Given the description of an element on the screen output the (x, y) to click on. 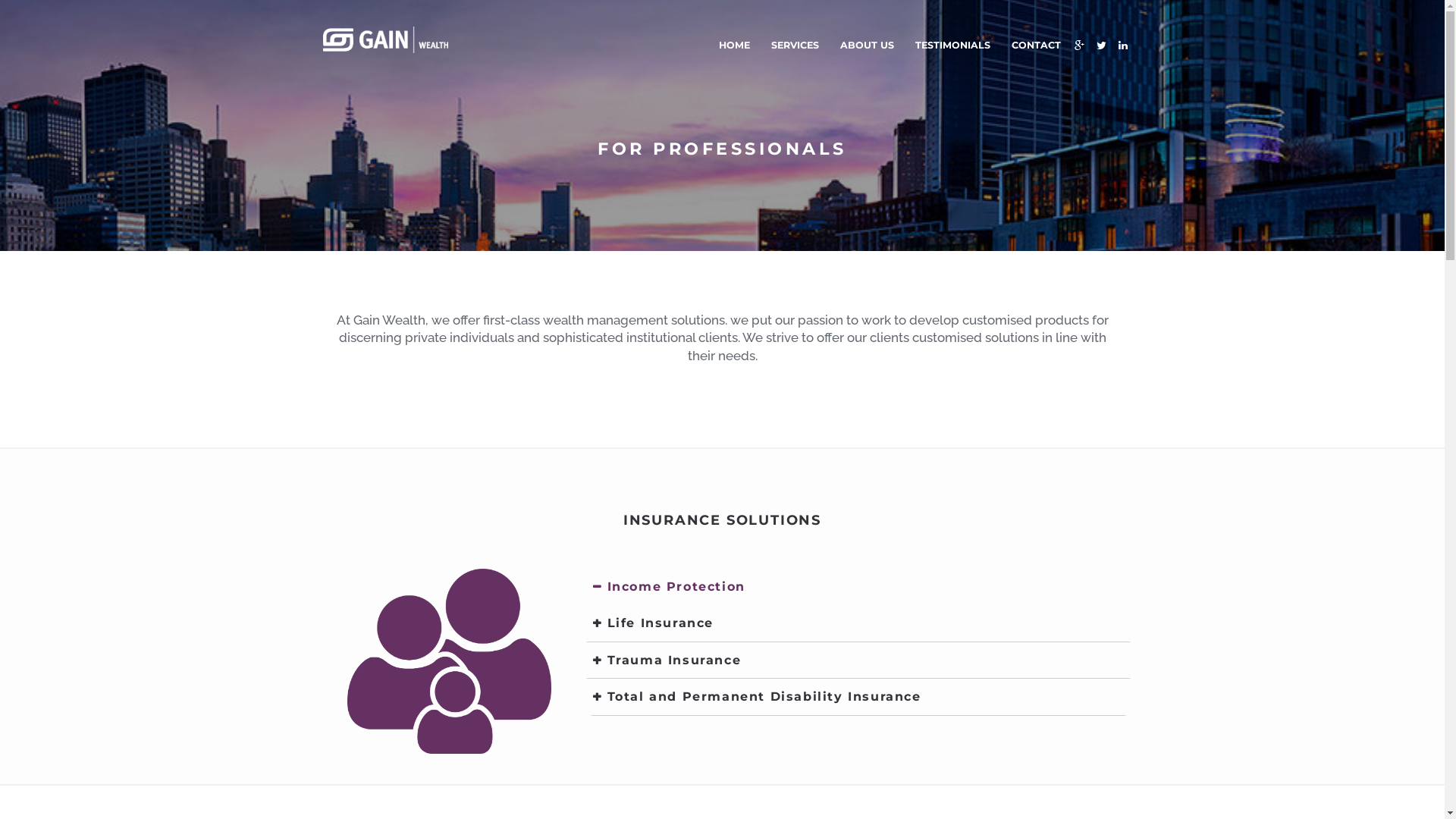
Life Insurance Element type: text (858, 623)
Income Protection Element type: text (858, 586)
TESTIMONIALS Element type: text (951, 45)
ABOUT US Element type: text (867, 45)
Trauma Insurance Element type: text (858, 660)
Total and Permanent Disability Insurance Element type: text (858, 696)
SERVICES Element type: text (794, 45)
CONTACT Element type: text (1036, 45)
HOME Element type: text (734, 45)
